Given the description of an element on the screen output the (x, y) to click on. 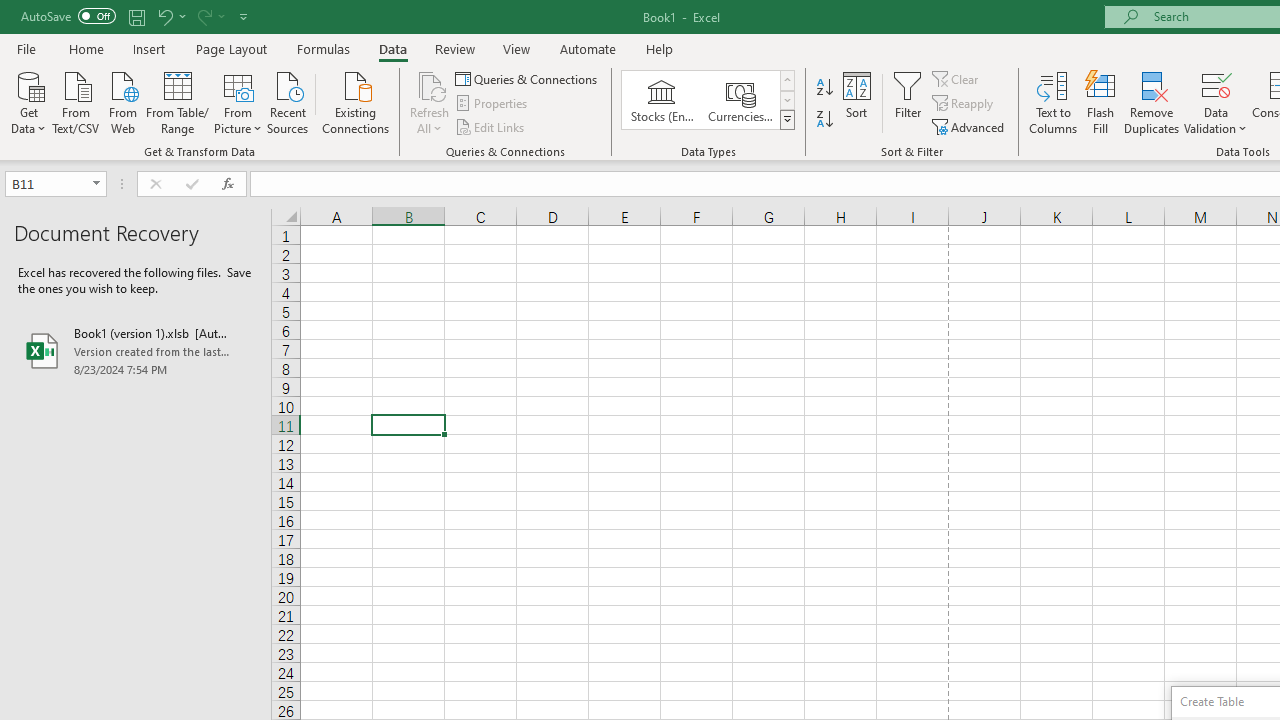
Customize Quick Access Toolbar (244, 15)
Recent Sources (287, 101)
Currencies (English) (740, 100)
Book1 (version 1).xlsb  [AutoRecovered] (136, 350)
Insert (149, 48)
Quick Access Toolbar (136, 16)
Filter (908, 102)
Data Validation... (1215, 102)
Row up (786, 79)
Review (454, 48)
Name Box (46, 183)
Open (96, 183)
Data Types (786, 120)
Undo (164, 15)
From Picture (238, 101)
